Given the description of an element on the screen output the (x, y) to click on. 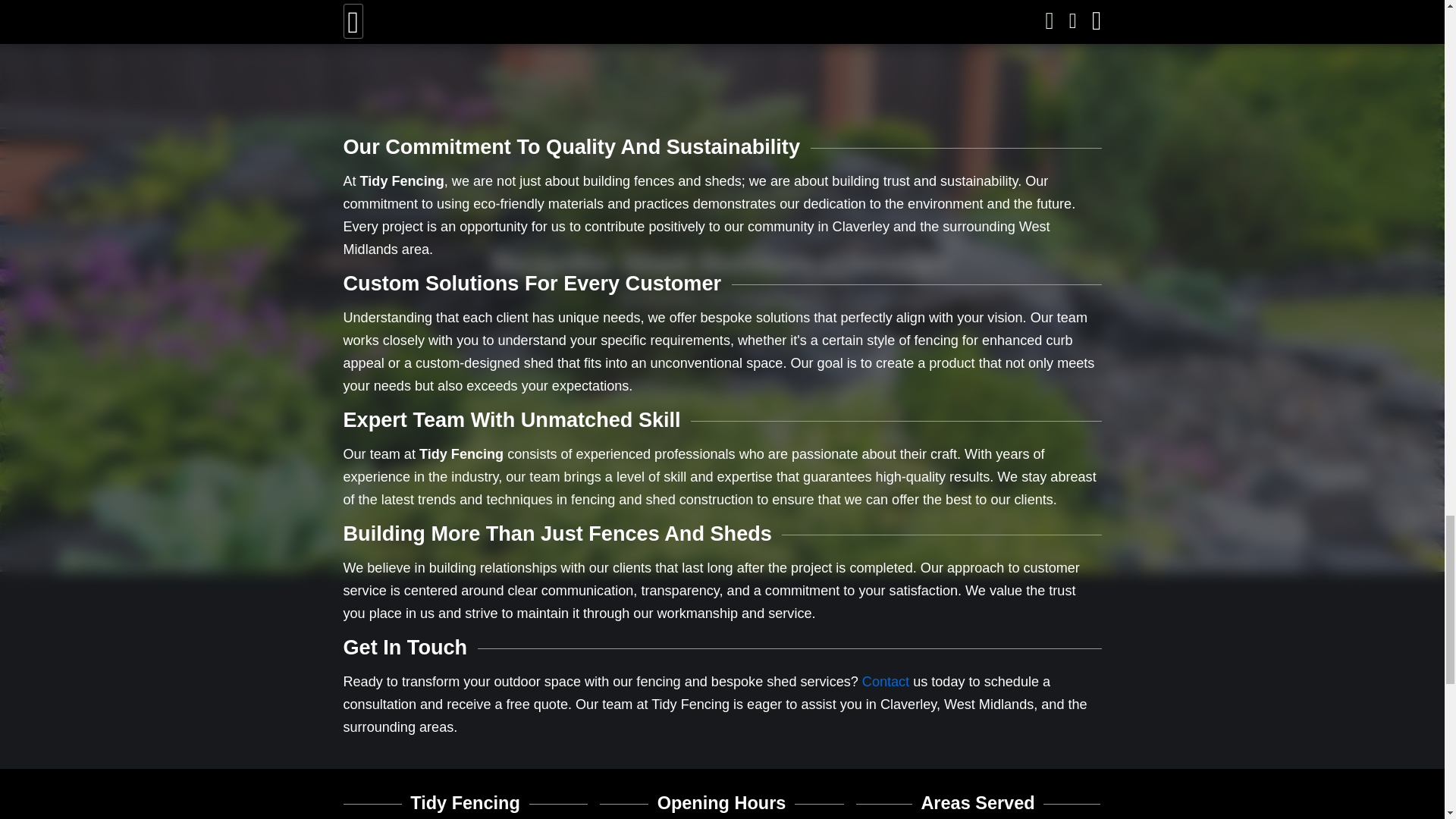
Contact (884, 681)
